Given the description of an element on the screen output the (x, y) to click on. 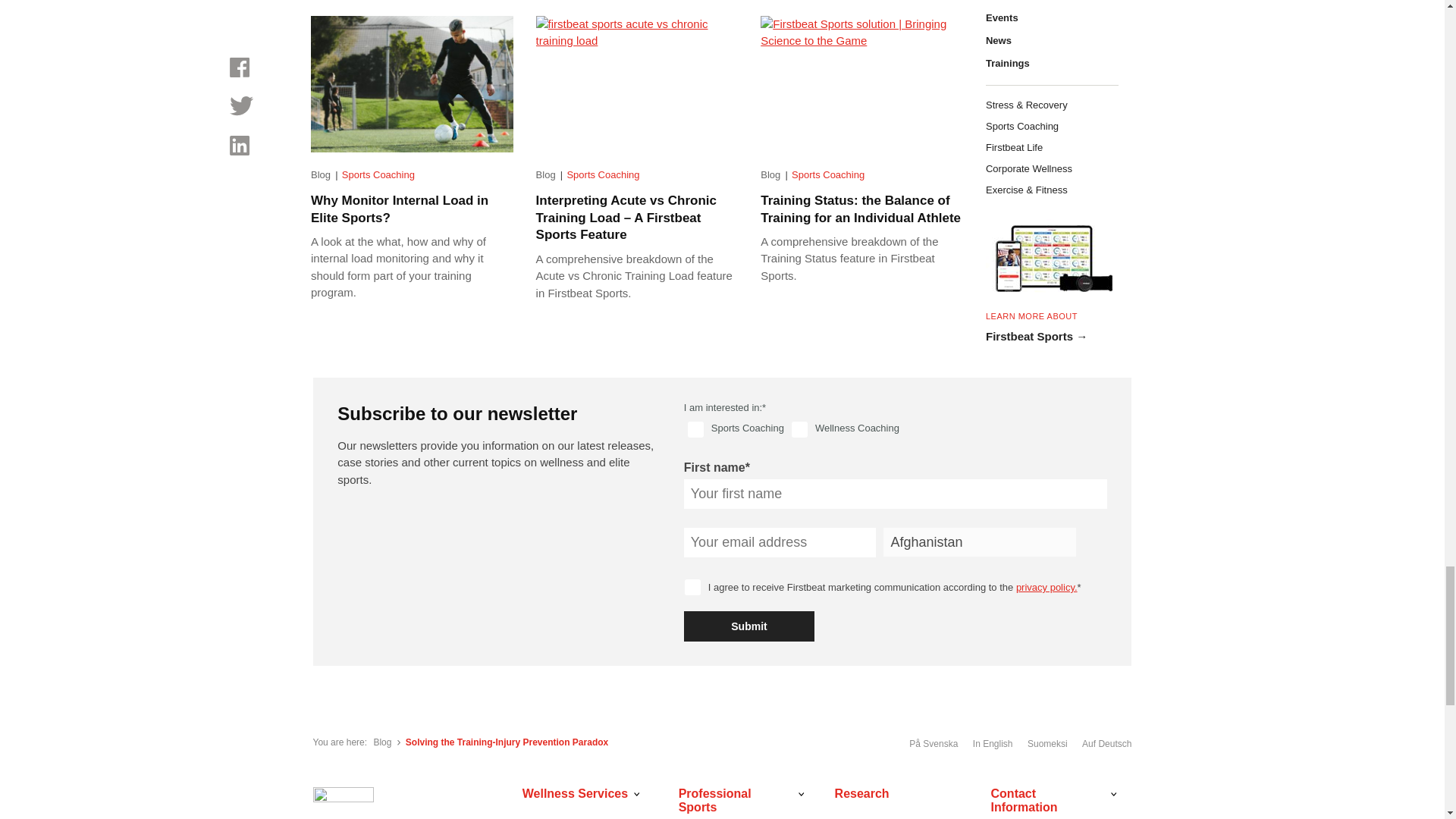
Why Monitor Internal Load in Elite Sports? (412, 83)
Submit (748, 625)
Why Monitor Internal Load in Elite Sports? (399, 209)
